Given the description of an element on the screen output the (x, y) to click on. 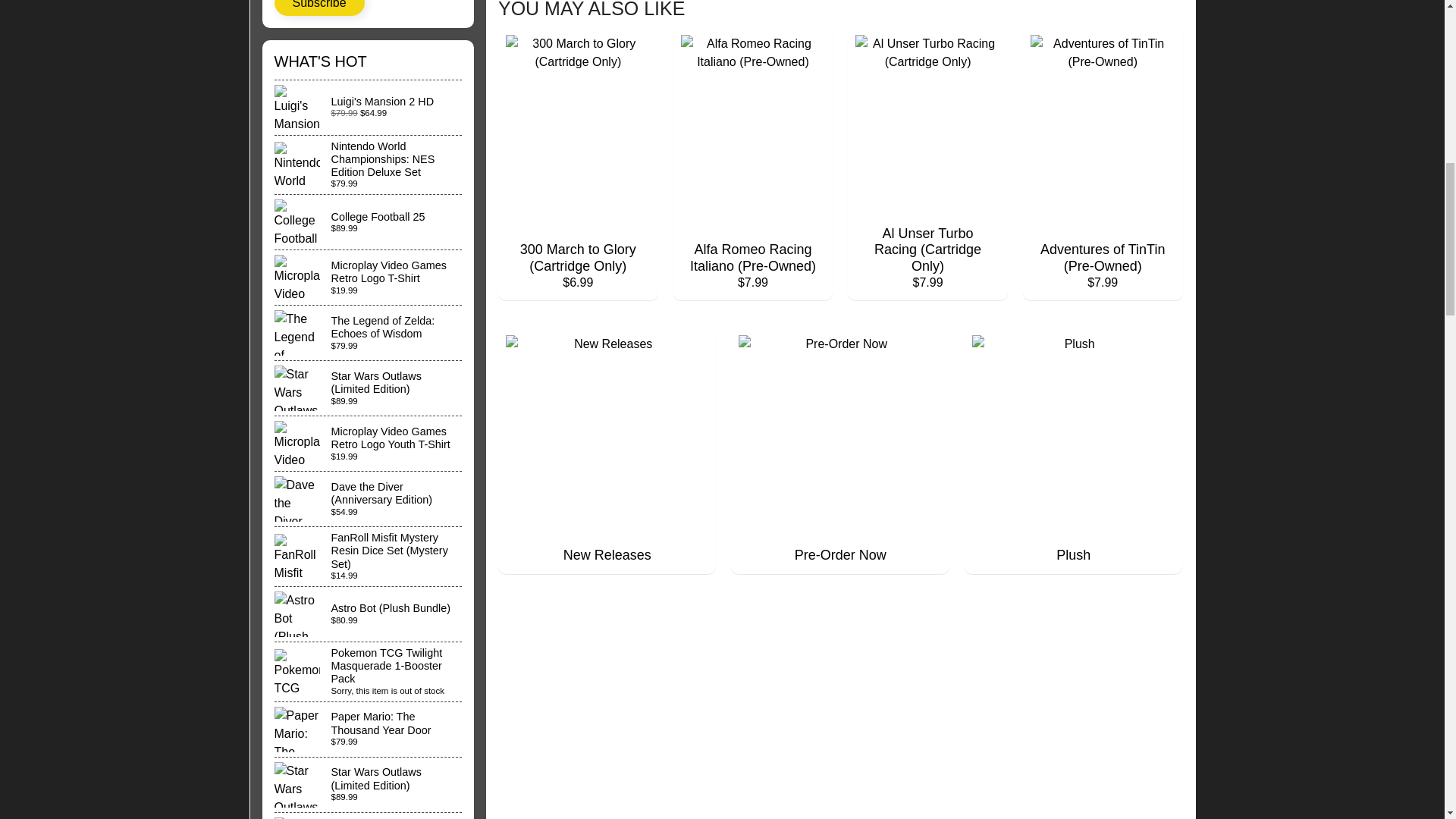
Pokemon TCG Twilight Masquerade 1-Booster Pack (369, 671)
College Football 25 (369, 221)
Paper Mario: The Thousand Year Door (369, 728)
Microplay Video Games Retro Logo T-Shirt (369, 277)
Luigi's Mansion 2 HD (369, 107)
Nintendo World Championships: NES Edition Deluxe Set (369, 164)
The Legend of Zelda: Echoes of Wisdom (369, 332)
Microplay Video Games Retro Logo Youth T-Shirt (369, 443)
